Given the description of an element on the screen output the (x, y) to click on. 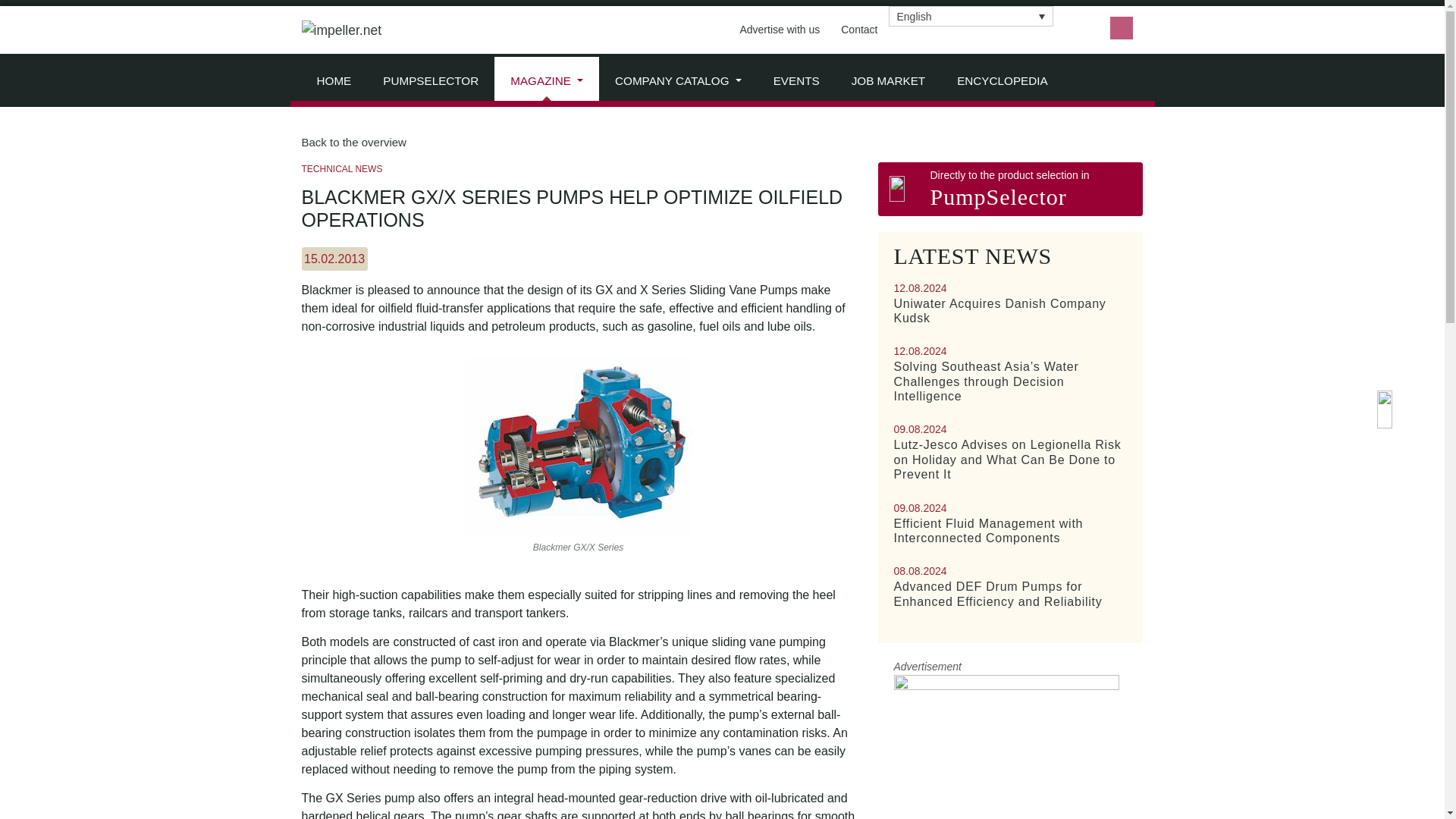
Back to the overview (721, 142)
JOB MARKET (887, 80)
HOME (332, 80)
ENCYCLOPEDIA (1002, 80)
MAGAZINE (546, 80)
Contact (858, 29)
EVENTS (796, 80)
Advertise with us (779, 29)
TECHNICAL NEWS (341, 168)
COMPANY CATALOG (677, 80)
